Given the description of an element on the screen output the (x, y) to click on. 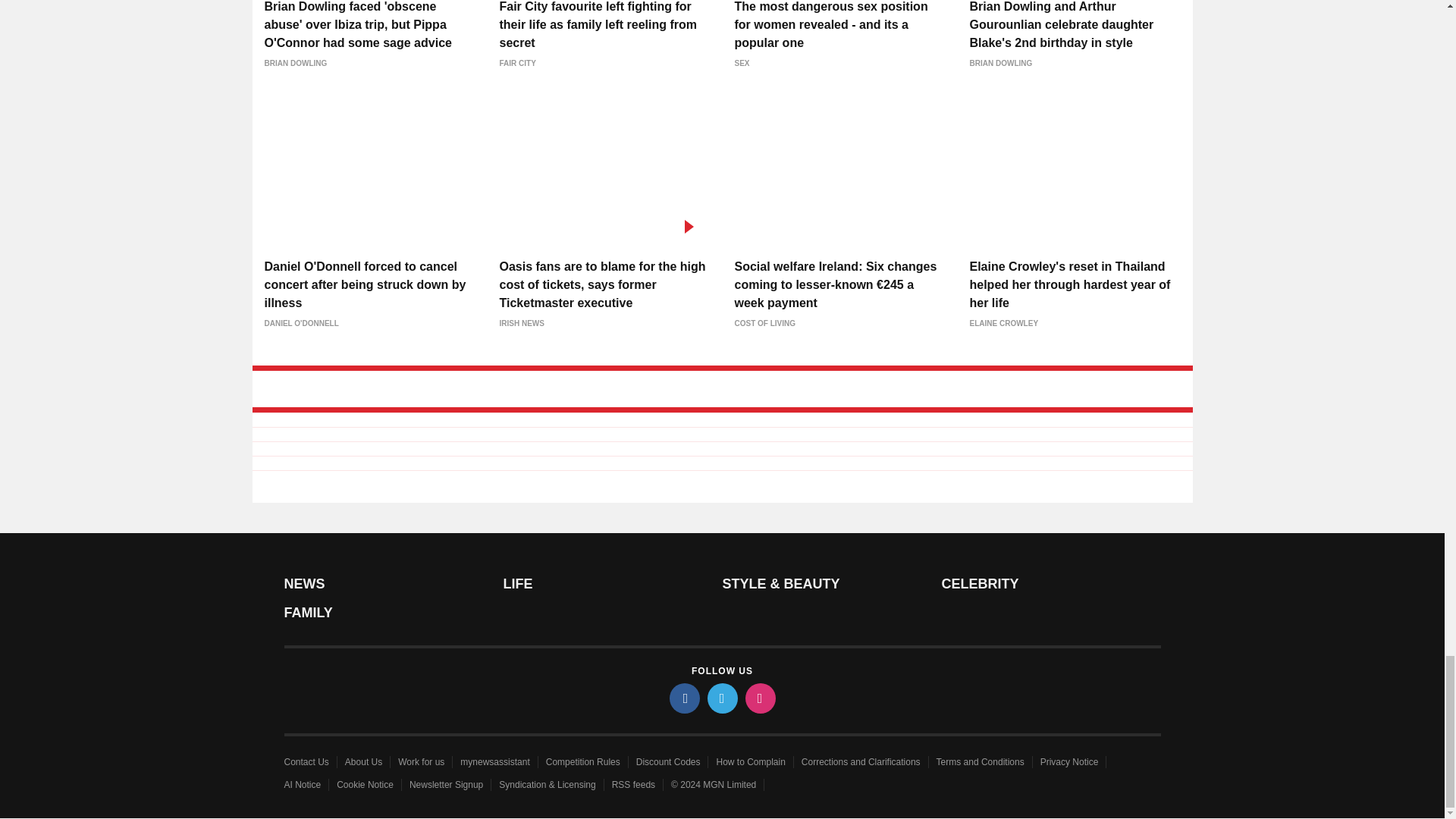
twitter (721, 698)
facebook (683, 698)
instagram (759, 698)
